Given the description of an element on the screen output the (x, y) to click on. 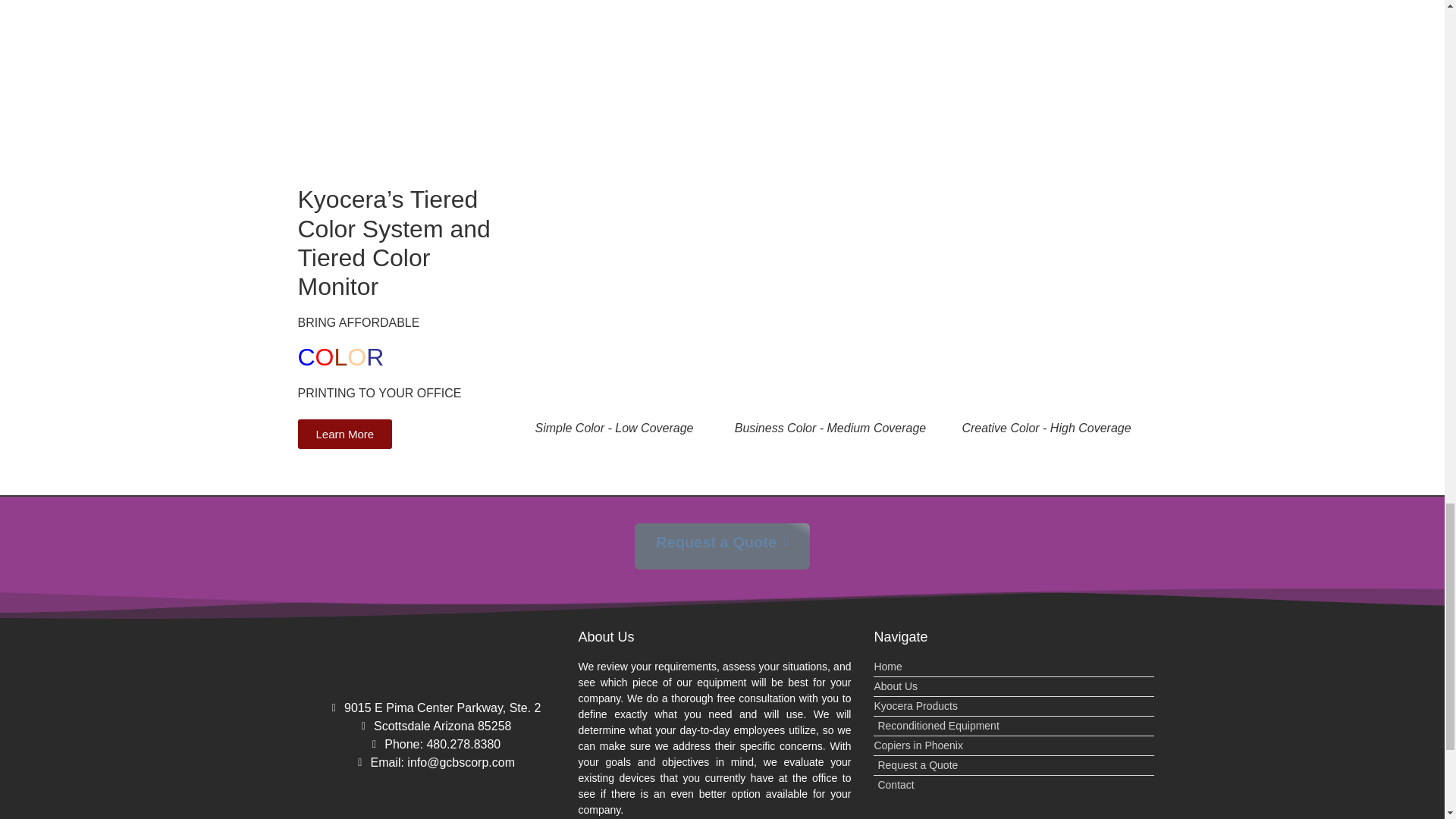
Copiers in Phoenix (1013, 745)
Learn More (344, 433)
Home (1013, 666)
About Us (1013, 686)
Scottsdale Arizona 85258 (433, 726)
Phone: 480.278.8380 (433, 744)
9015 E Pima Center Parkway, Ste. 2 (433, 708)
Kyocera Products (1013, 706)
Request a Quote (721, 546)
Request a Quote (1013, 765)
Contact (1013, 785)
Reconditioned Equipment (1013, 725)
